Given the description of an element on the screen output the (x, y) to click on. 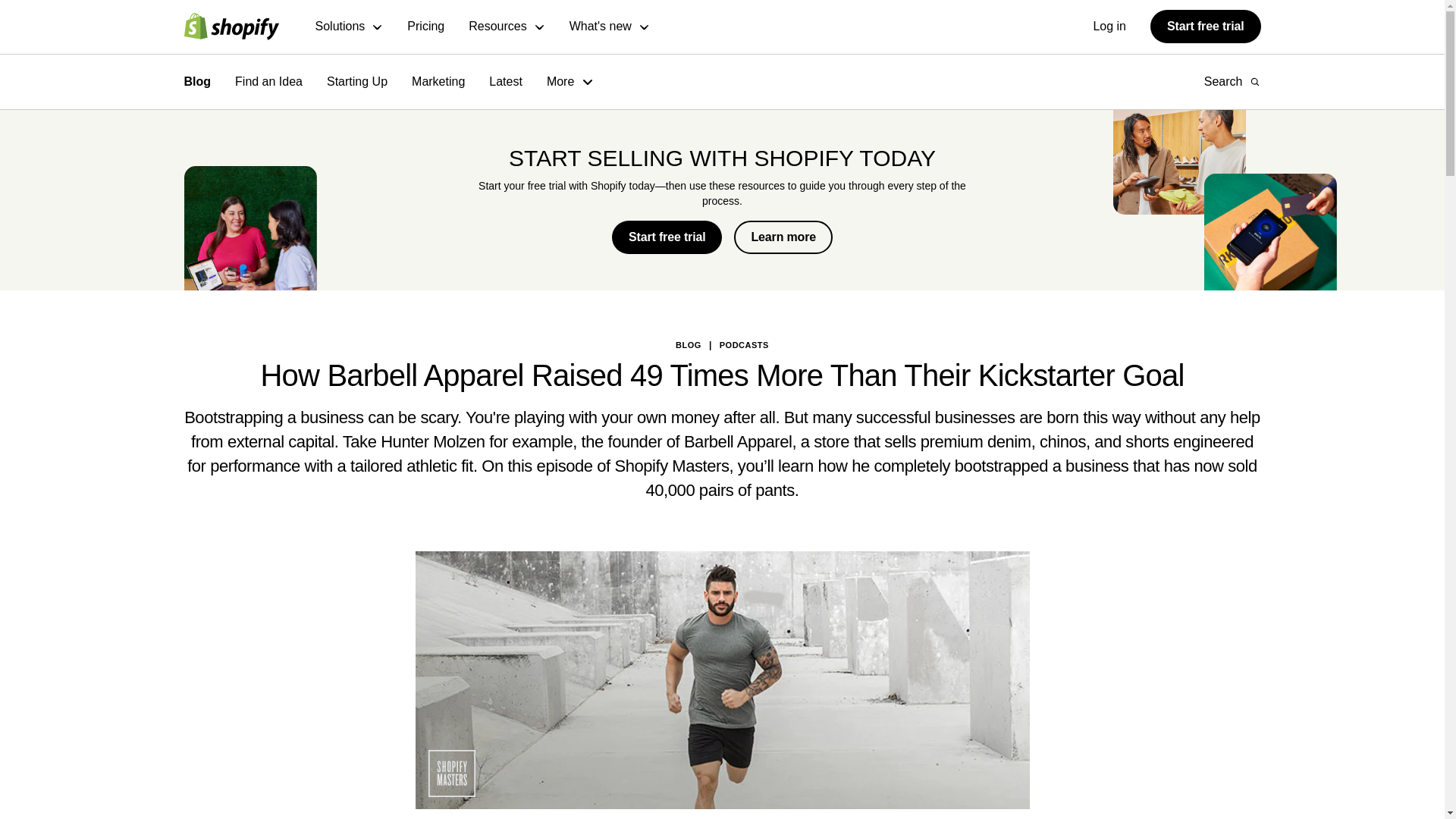
Pricing (425, 27)
Solutions (349, 27)
Resources (506, 27)
